Given the description of an element on the screen output the (x, y) to click on. 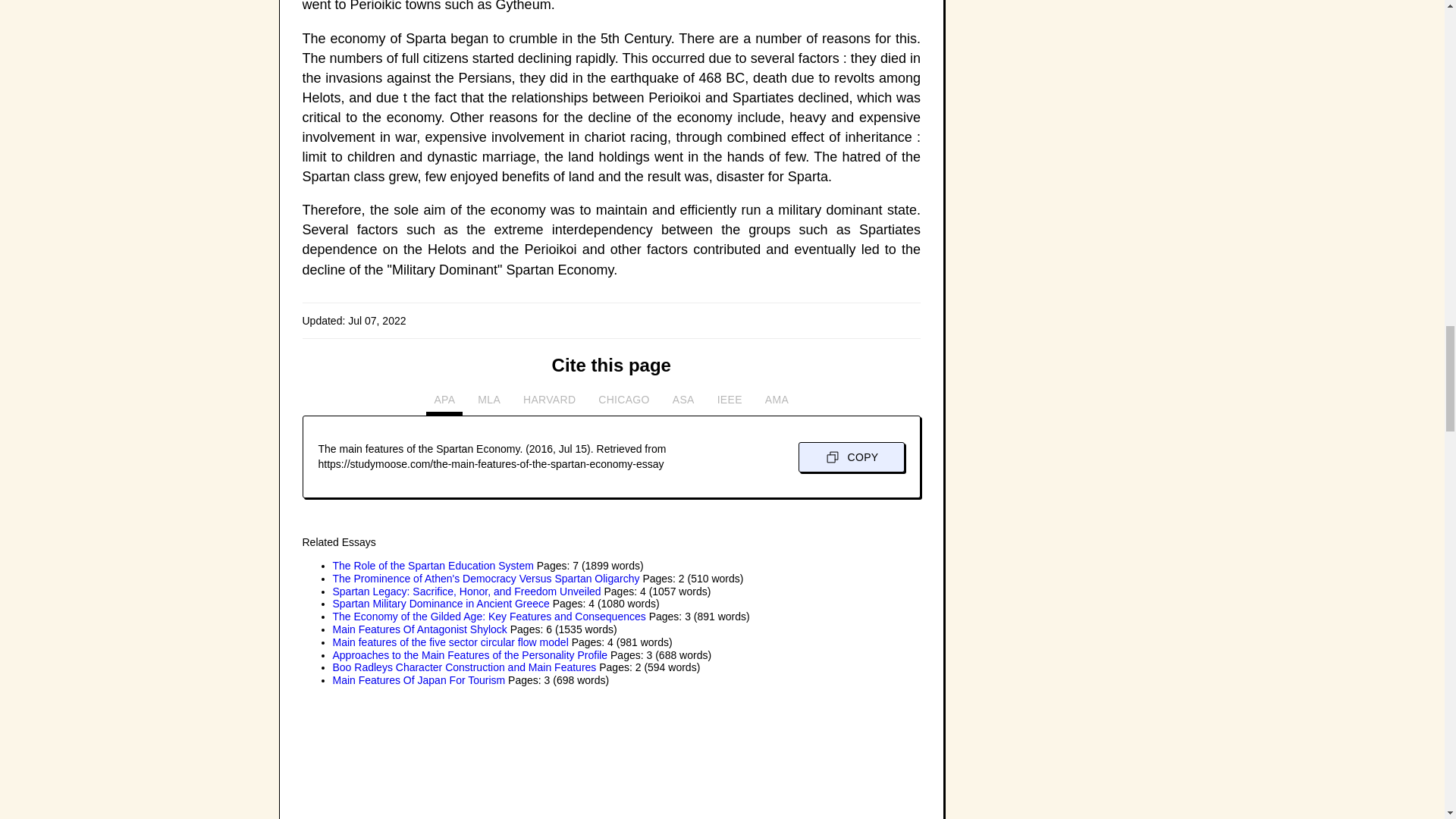
APA (444, 403)
The main features of the Spartan Economy (415, 758)
MLA (489, 403)
HARVARD (549, 403)
